Given the description of an element on the screen output the (x, y) to click on. 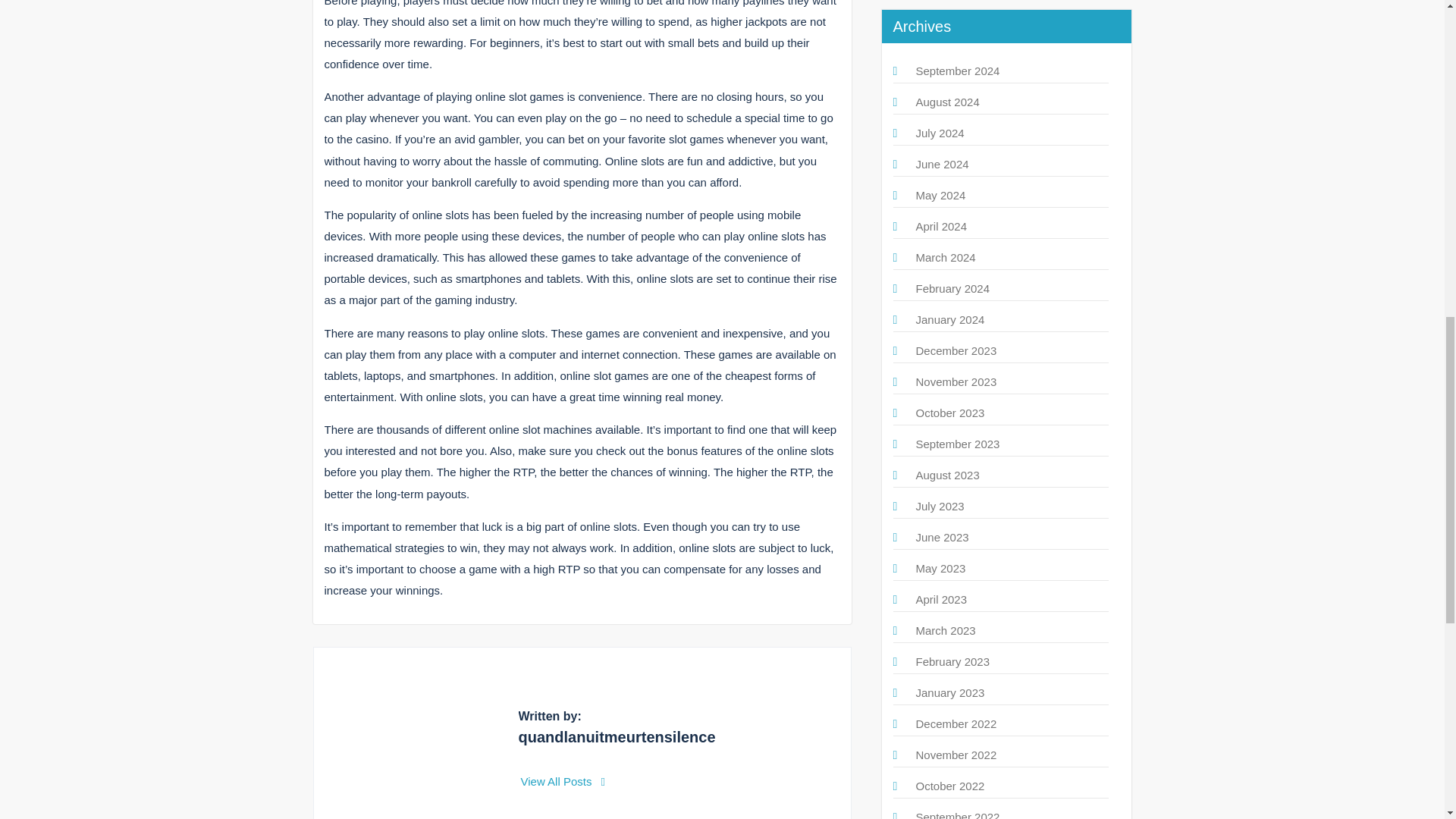
January 2023 (950, 692)
July 2023 (939, 505)
February 2024 (952, 287)
January 2024 (950, 318)
September 2023 (957, 443)
November 2023 (956, 381)
September 2024 (957, 70)
May 2023 (940, 567)
December 2022 (956, 723)
July 2024 (939, 132)
